Given the description of an element on the screen output the (x, y) to click on. 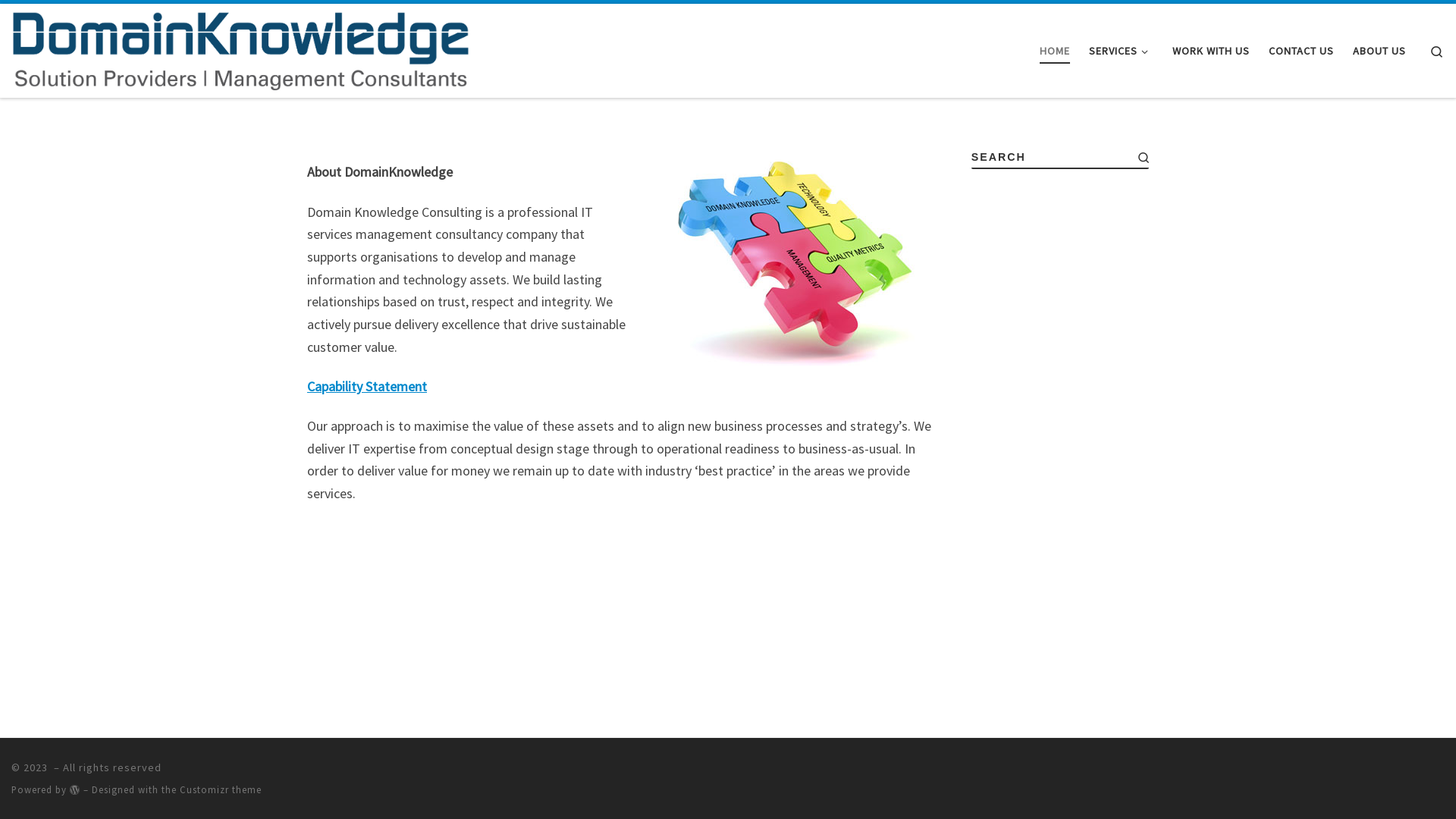
 |  Element type: hover (240, 48)
ABOUT US Element type: text (1379, 51)
HOME Element type: text (1054, 51)
SERVICES Element type: text (1120, 51)
WORK WITH US Element type: text (1211, 51)
the Customizr theme Element type: text (211, 789)
Capability Statement Element type: text (366, 386)
Powered by WordPress Element type: hover (74, 789)
CONTACT US Element type: text (1301, 51)
